Given the description of an element on the screen output the (x, y) to click on. 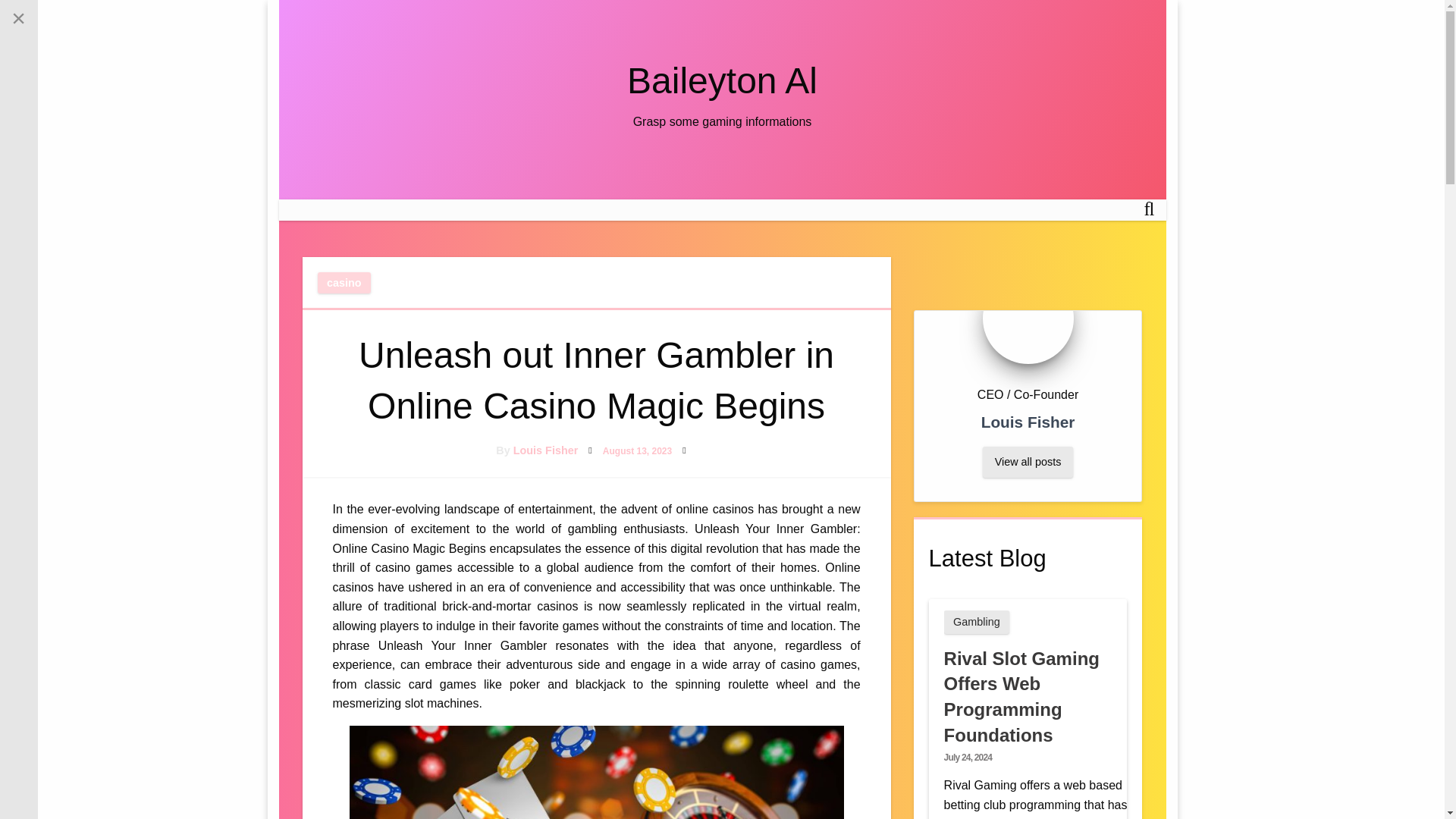
Gambling (976, 621)
View all posts (1027, 461)
Baileyton Al (721, 80)
Louis Fisher (545, 450)
Rival Slot Gaming Offers Web Programming Foundations (1021, 696)
July 24, 2024 (967, 757)
Louis Fisher (545, 450)
August 13, 2023 (636, 450)
casino (344, 282)
